Given the description of an element on the screen output the (x, y) to click on. 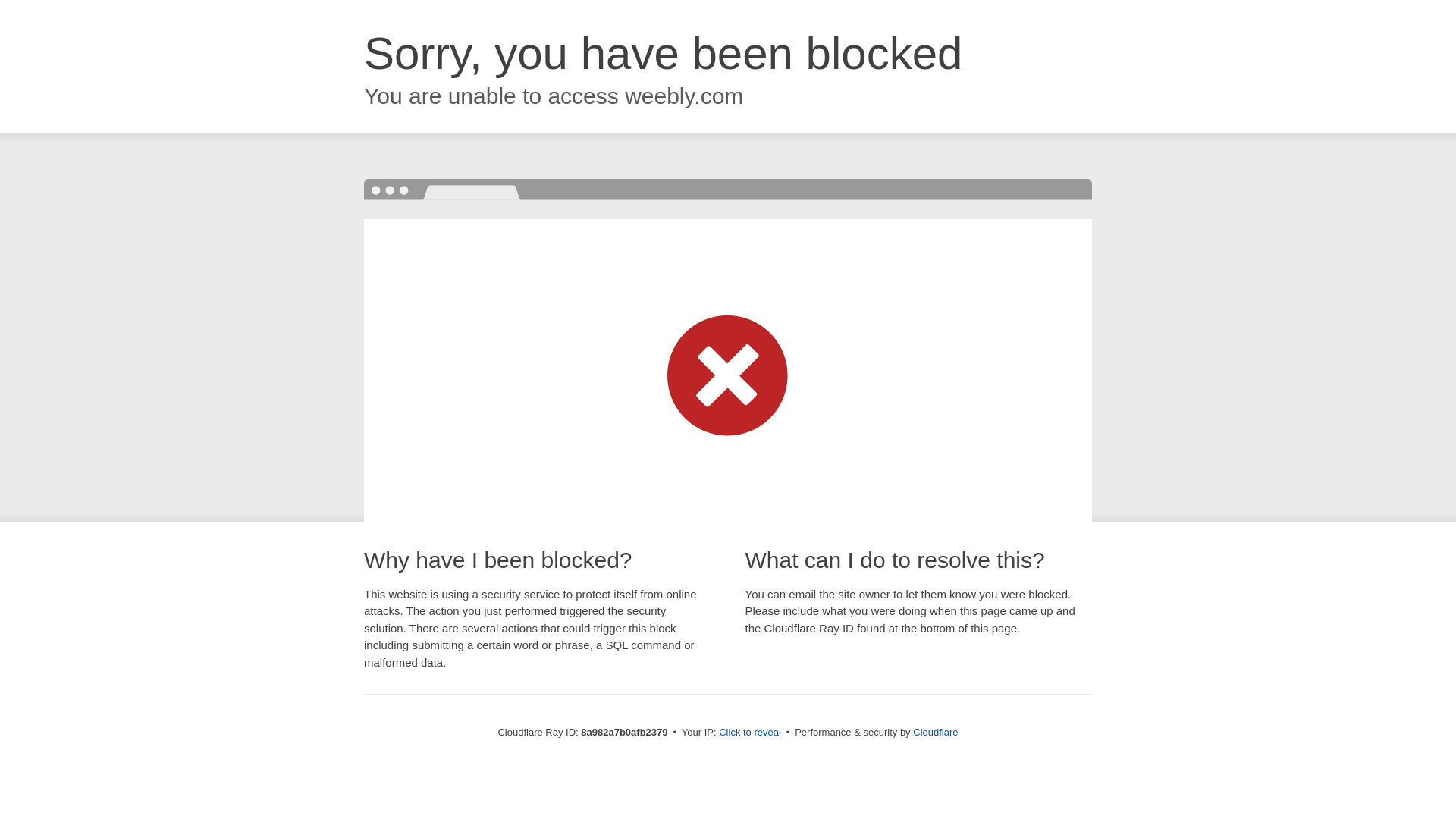
Click to reveal (749, 732)
Cloudflare (935, 731)
